Given the description of an element on the screen output the (x, y) to click on. 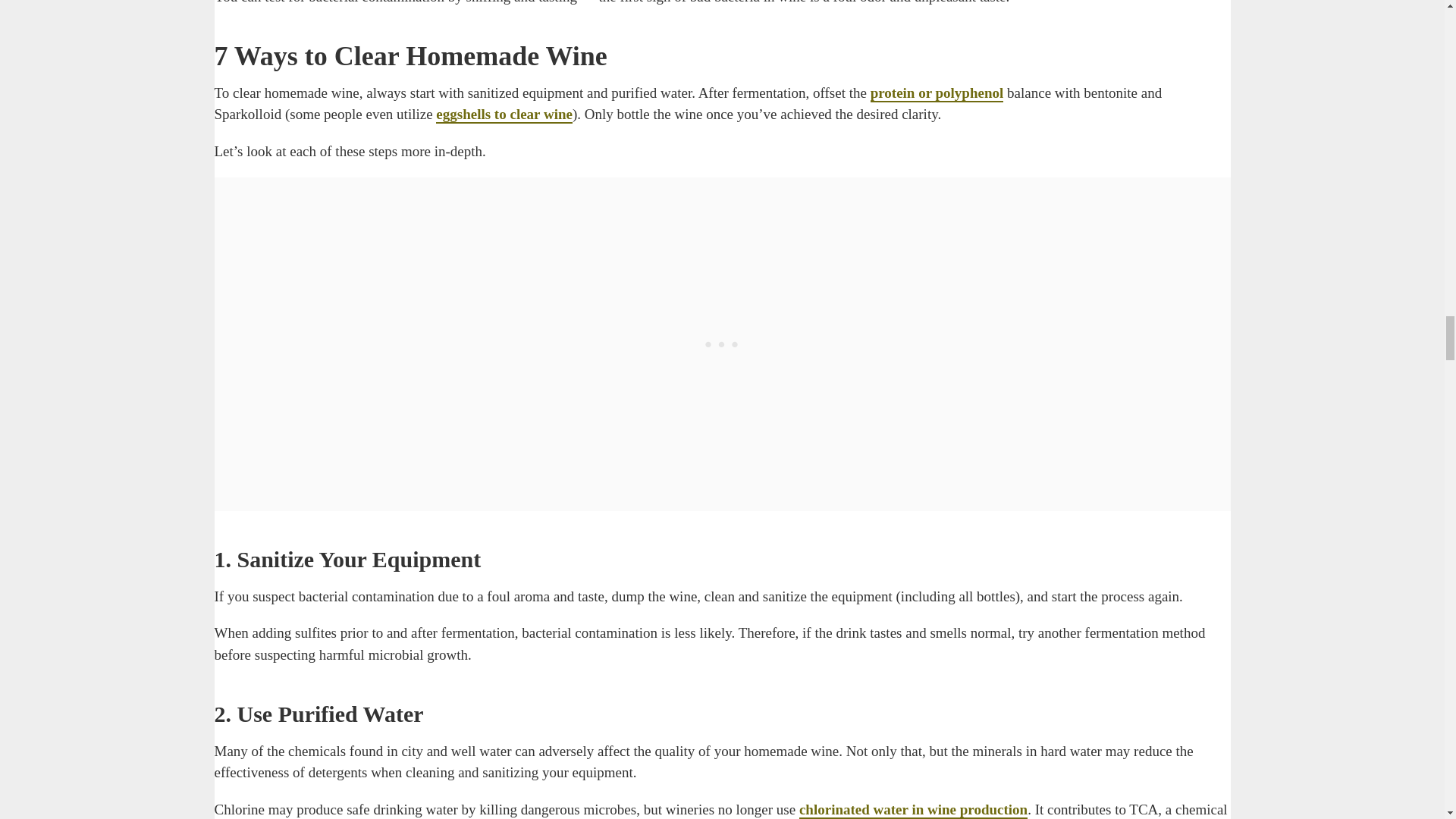
protein or polyphenol (937, 93)
eggshells to clear wine (503, 114)
chlorinated water in wine production (913, 810)
